Given the description of an element on the screen output the (x, y) to click on. 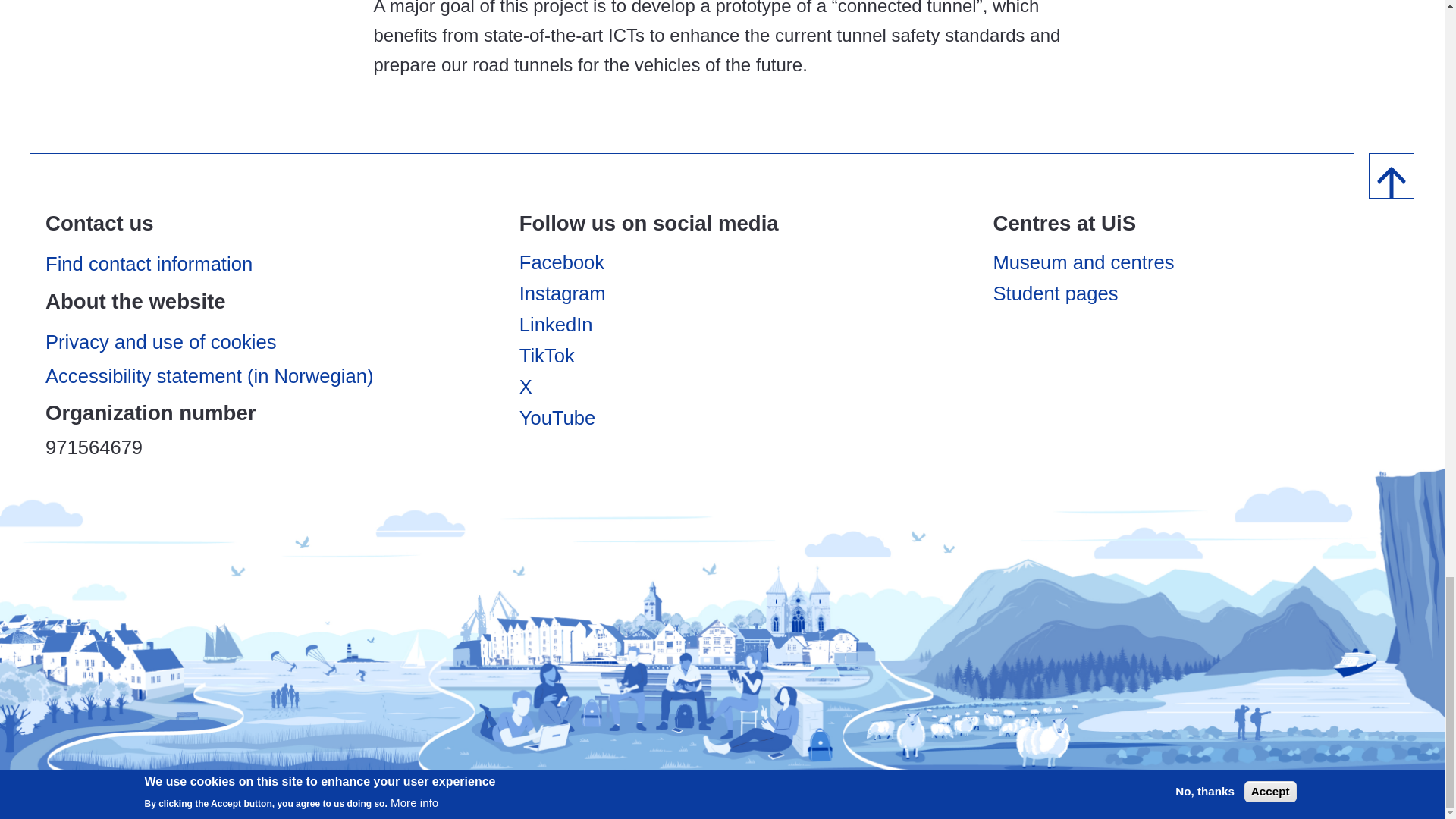
Privacy and use of cookies (248, 341)
Find contact information (248, 263)
Facebook (561, 261)
TikTok (547, 355)
Museum and centres (1083, 261)
Student pages (1055, 292)
Instagram (562, 292)
LinkedIn (555, 323)
YouTube (557, 417)
RAMSALT LAB (1265, 491)
